Given the description of an element on the screen output the (x, y) to click on. 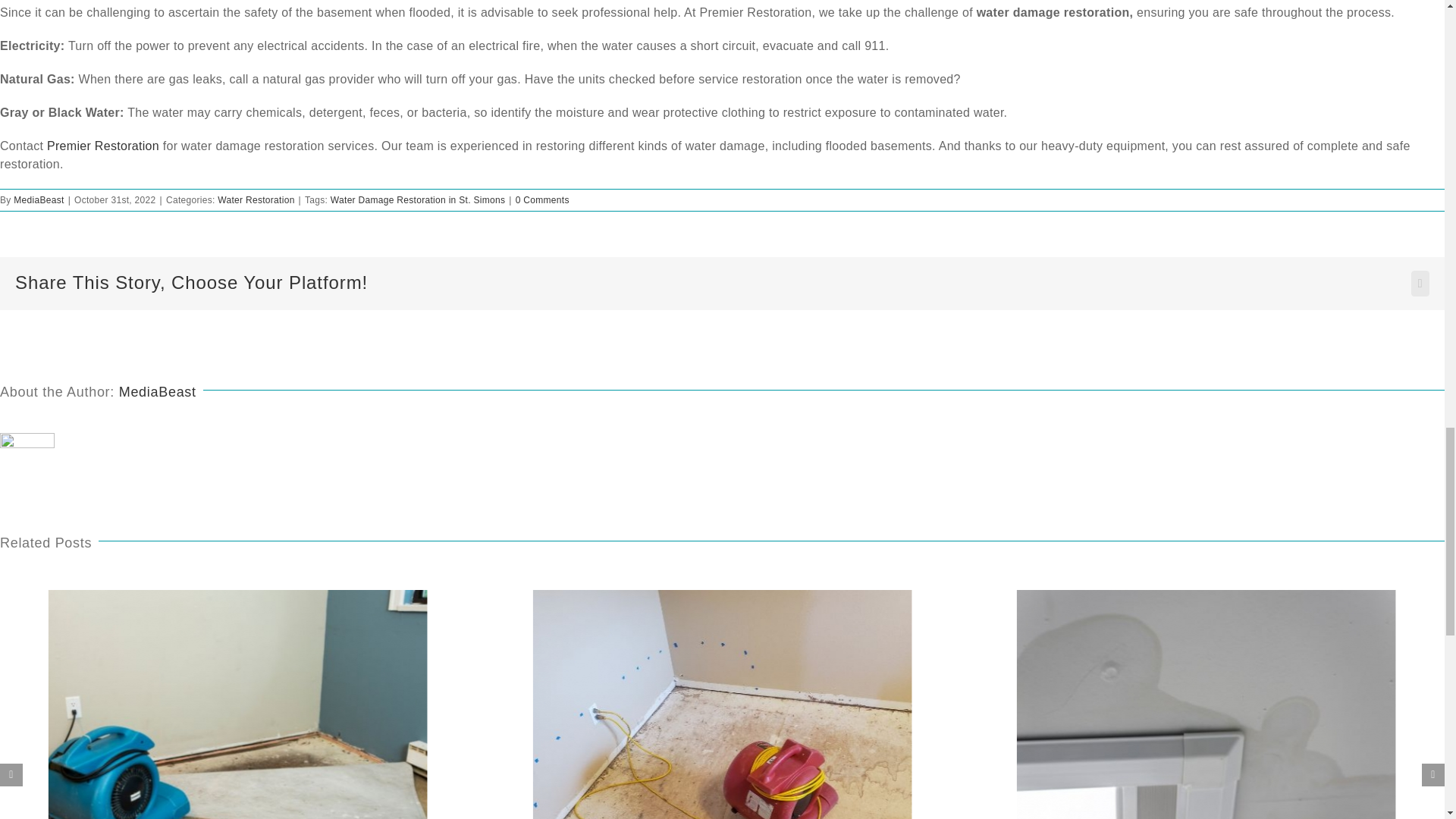
Posts by MediaBeast (38, 199)
Posts by MediaBeast (157, 391)
